Given the description of an element on the screen output the (x, y) to click on. 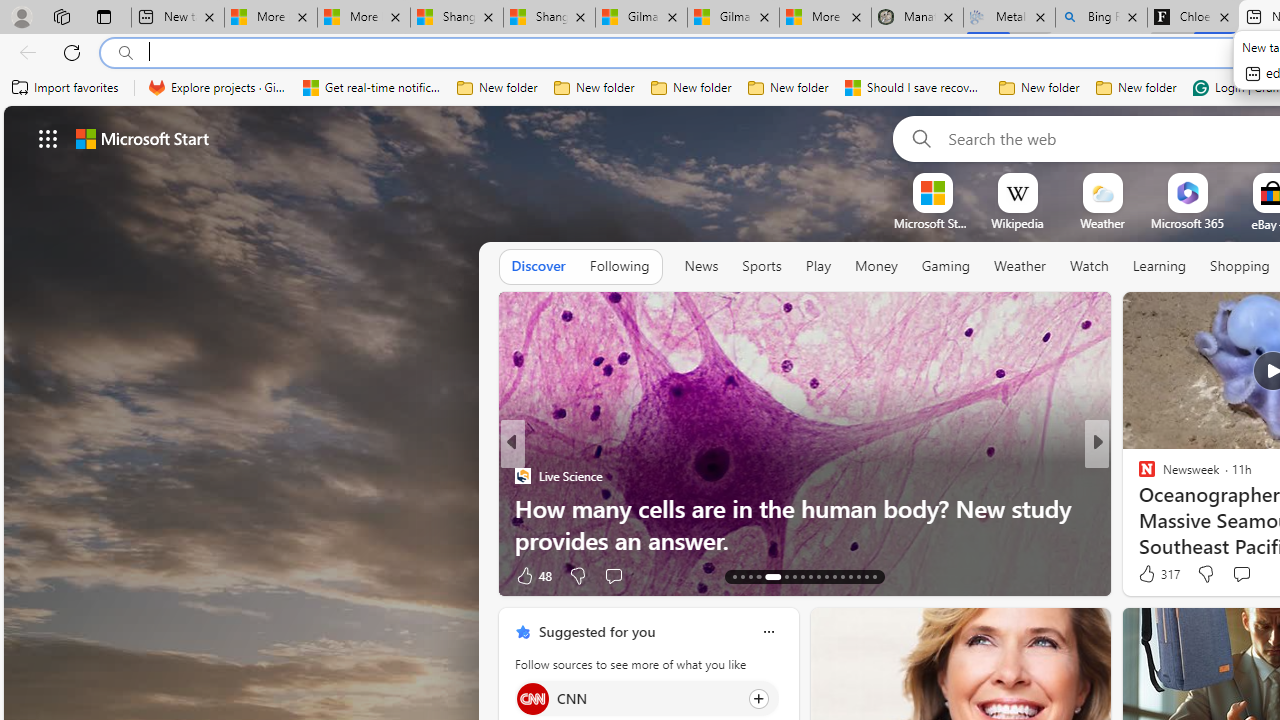
Dislike (1204, 574)
Live Science (522, 475)
MetroOpinion (1167, 507)
48 Like (532, 574)
129 Like (1151, 574)
Gilma and Hector both pose tropical trouble for Hawaii (733, 17)
AutomationID: tab-16 (757, 576)
News (701, 267)
Gaming (945, 267)
Click to follow source CNN (646, 698)
View comments 12 Comment (1237, 574)
AutomationID: tab-14 (742, 576)
Gaming (945, 265)
